Given the description of an element on the screen output the (x, y) to click on. 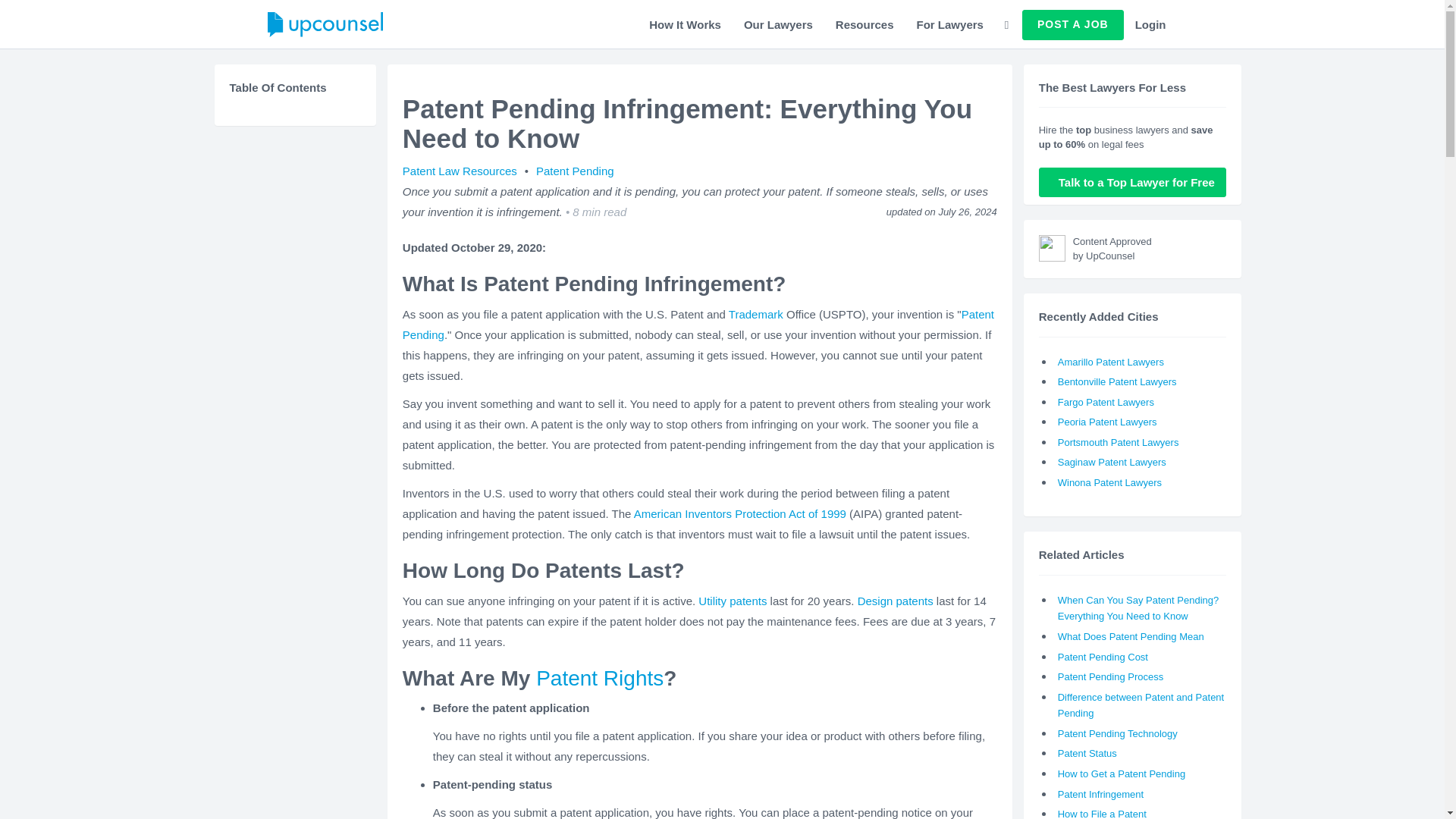
Patent Pending (574, 170)
Design patents (895, 600)
Patent Law Resources (462, 170)
Our Lawyers (778, 24)
American Inventors Protection Act of 1999 (740, 513)
For Lawyers (949, 24)
Patent Pending (698, 324)
How It Works (684, 24)
Resources (864, 24)
Login (1150, 24)
Utility patents (732, 600)
Trademark (756, 314)
Patent Rights (599, 678)
